Given the description of an element on the screen output the (x, y) to click on. 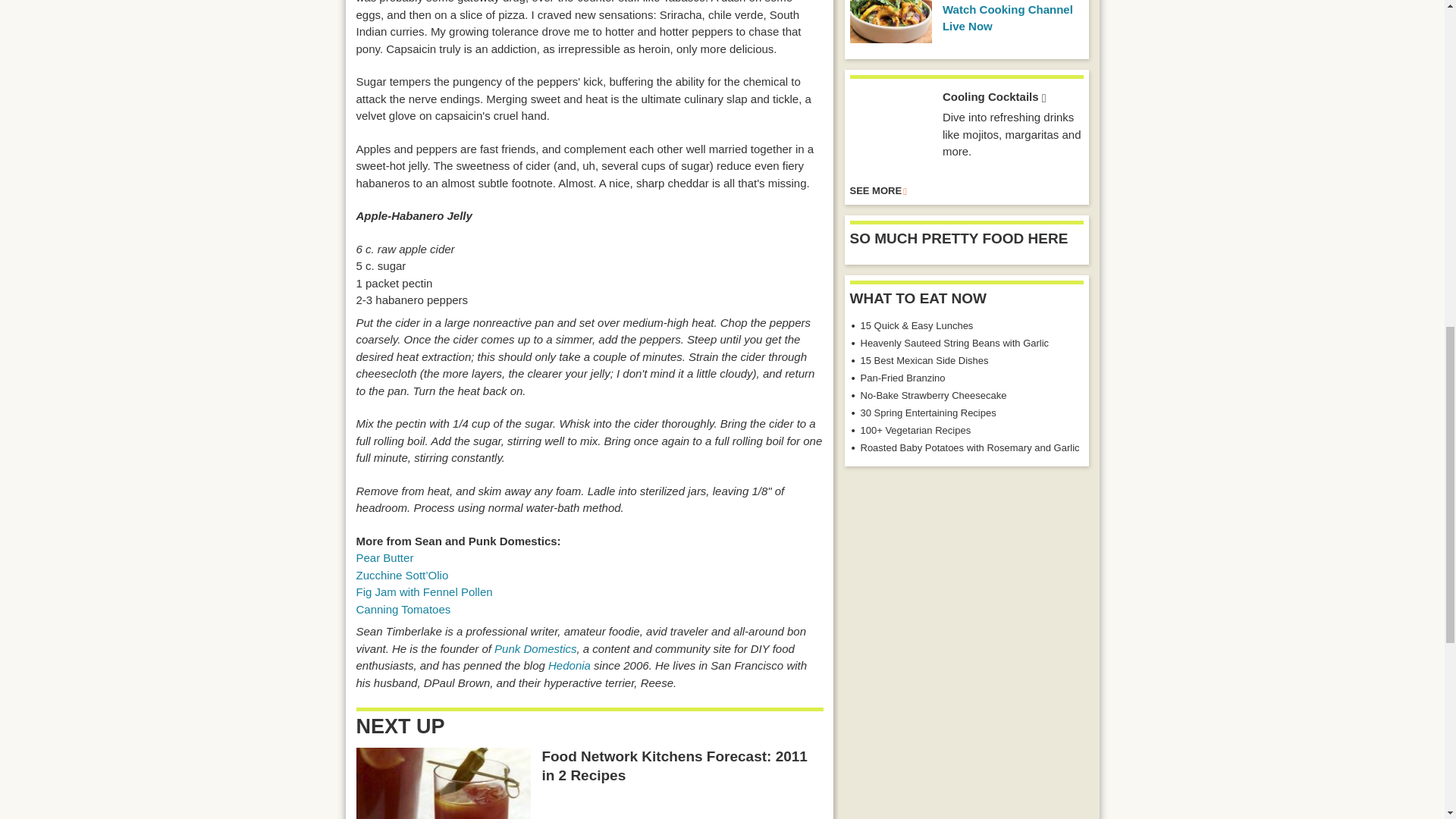
Canning Tomatoes (403, 608)
Punk Domestics (535, 648)
Food Network Kitchens Forecast: 2011 in 2 Recipes (443, 783)
Cooling Cocktails (889, 130)
Fig Jam with Fennel Pollen (424, 591)
Pear Butter (384, 557)
Hedonia (569, 665)
